Given the description of an element on the screen output the (x, y) to click on. 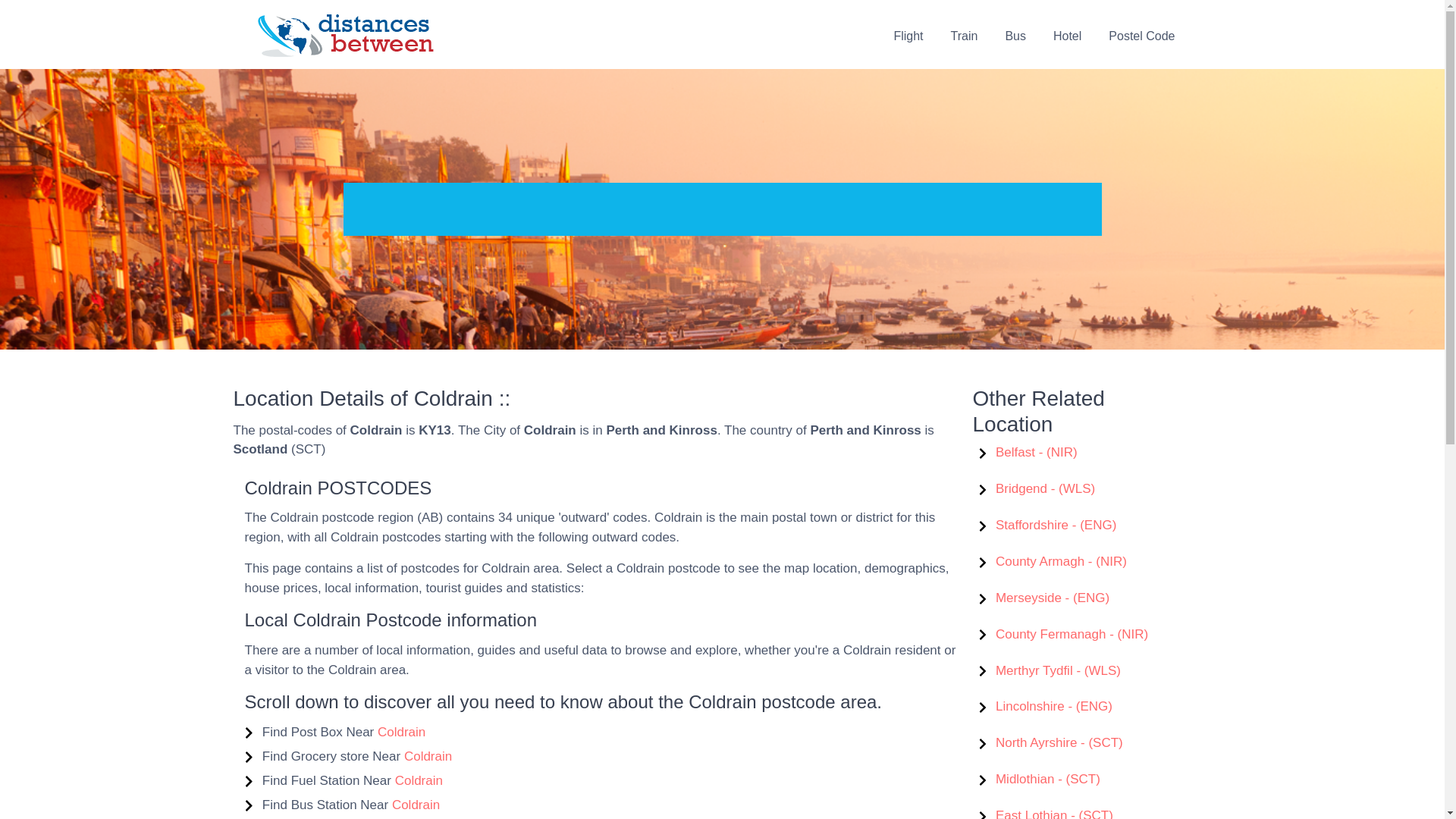
Hotel (1066, 34)
Coldrain (427, 756)
Coldrain (401, 731)
Coldrain (415, 804)
Train (964, 34)
Postel Code (1141, 34)
Bus (1015, 34)
Coldrain (418, 780)
Flight (907, 34)
